Given the description of an element on the screen output the (x, y) to click on. 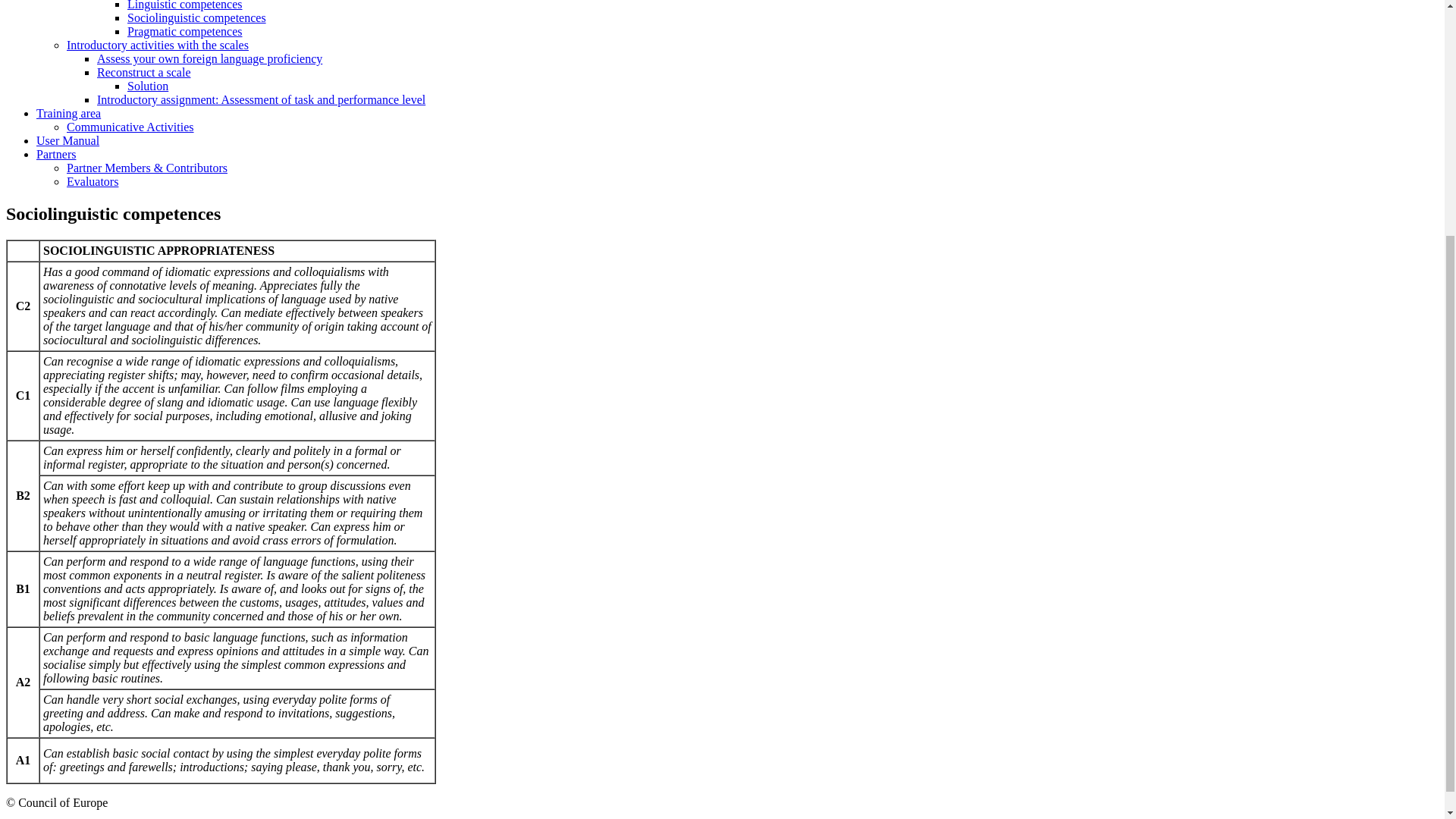
Sociolinguistic competences (197, 17)
Partners (55, 154)
Linguistic competences (185, 5)
Communicative Activities (129, 126)
User Manual (67, 140)
Assess your own foreign language proficiency (209, 58)
Training area (68, 113)
Pragmatic competences (185, 31)
Introductory activities with the scales (157, 44)
Evaluators (91, 181)
Reconstruct a scale (143, 72)
Solution (148, 85)
